Given the description of an element on the screen output the (x, y) to click on. 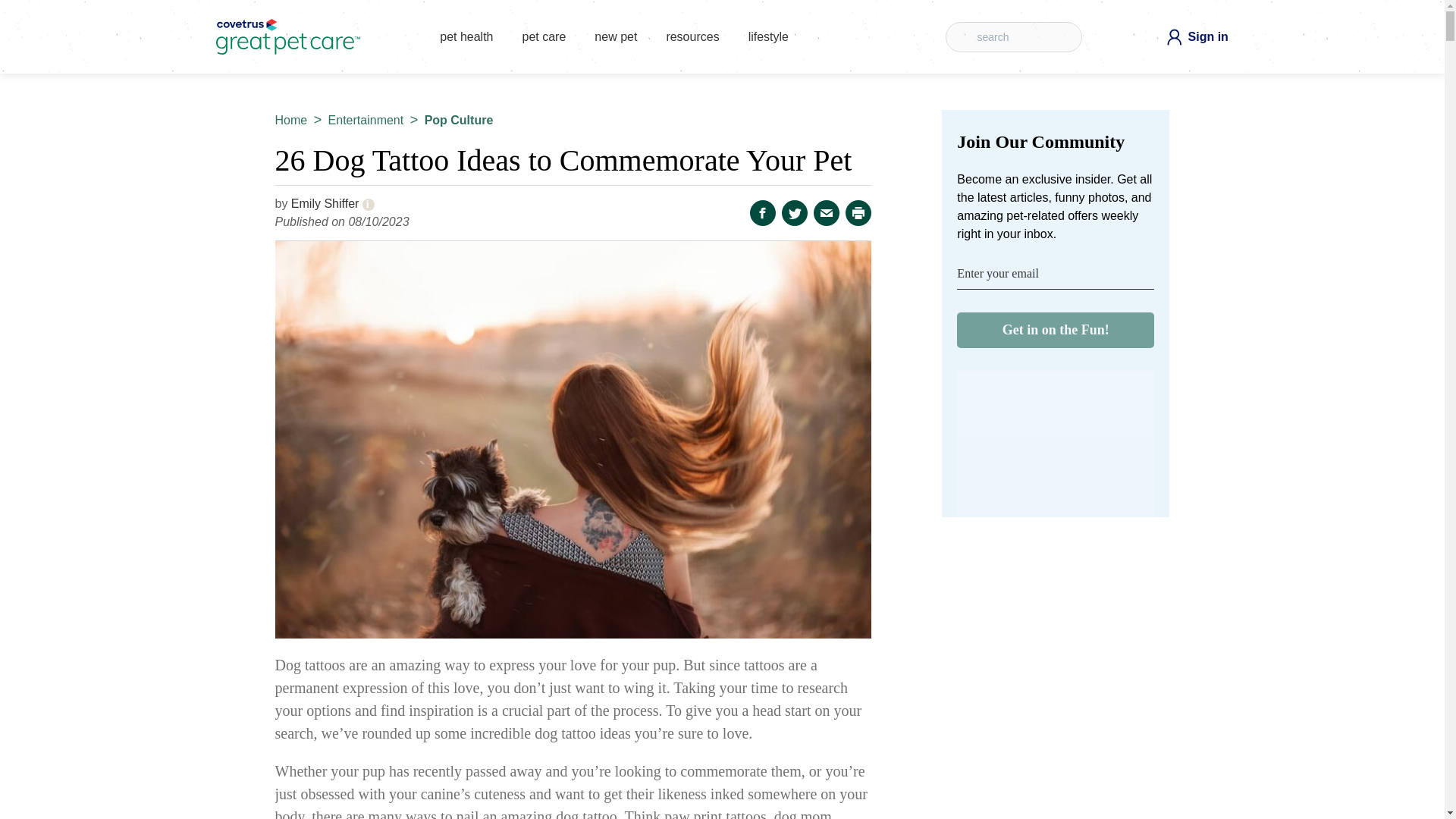
Emily Shiffer (332, 203)
Share via email (826, 212)
Share on Twitter (794, 212)
pet care (544, 39)
pet health (466, 39)
Share on Facebook (762, 212)
lifestyle (768, 39)
Great Pet Care Logo (287, 36)
resources (692, 39)
new pet (615, 39)
